Given the description of an element on the screen output the (x, y) to click on. 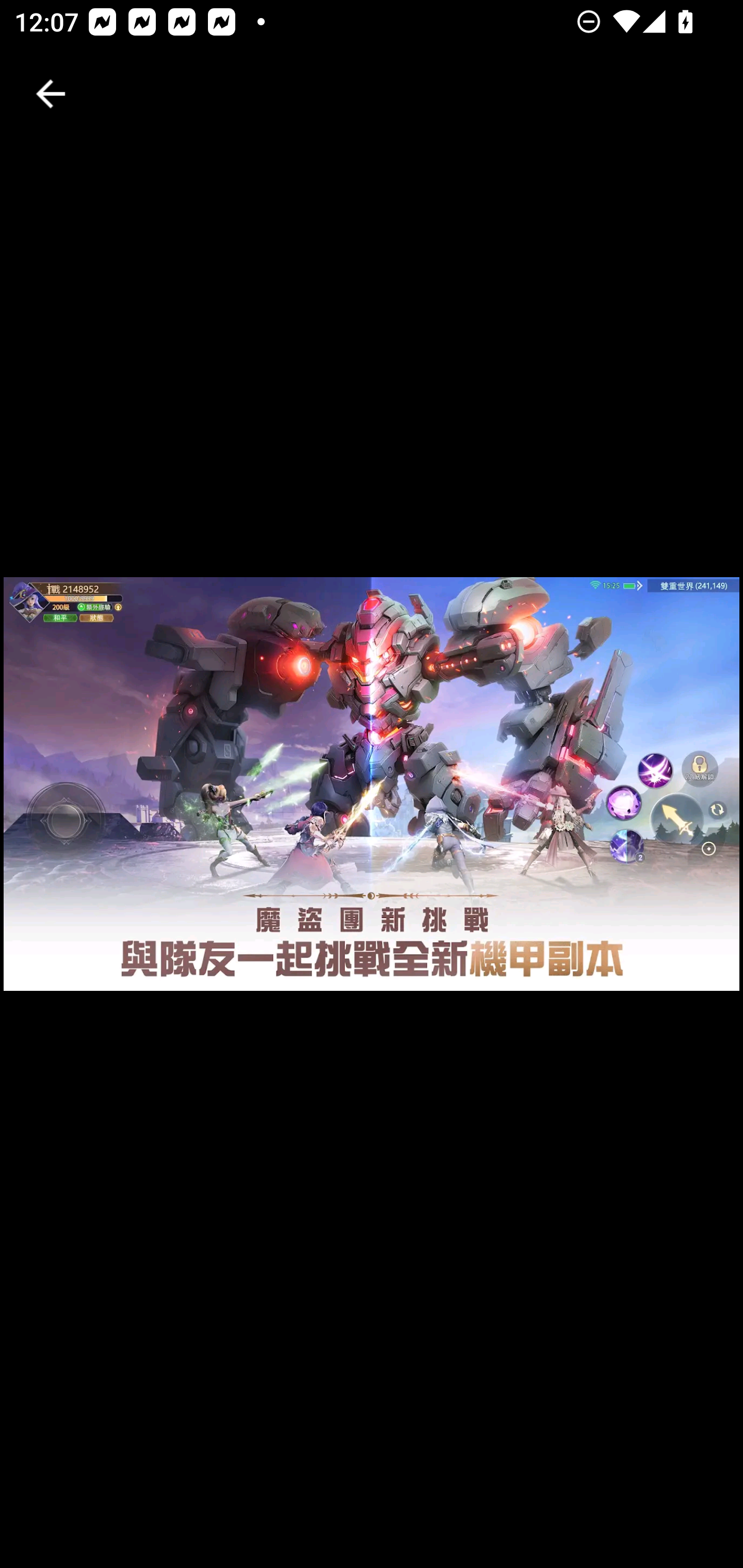
Back (50, 93)
